Given the description of an element on the screen output the (x, y) to click on. 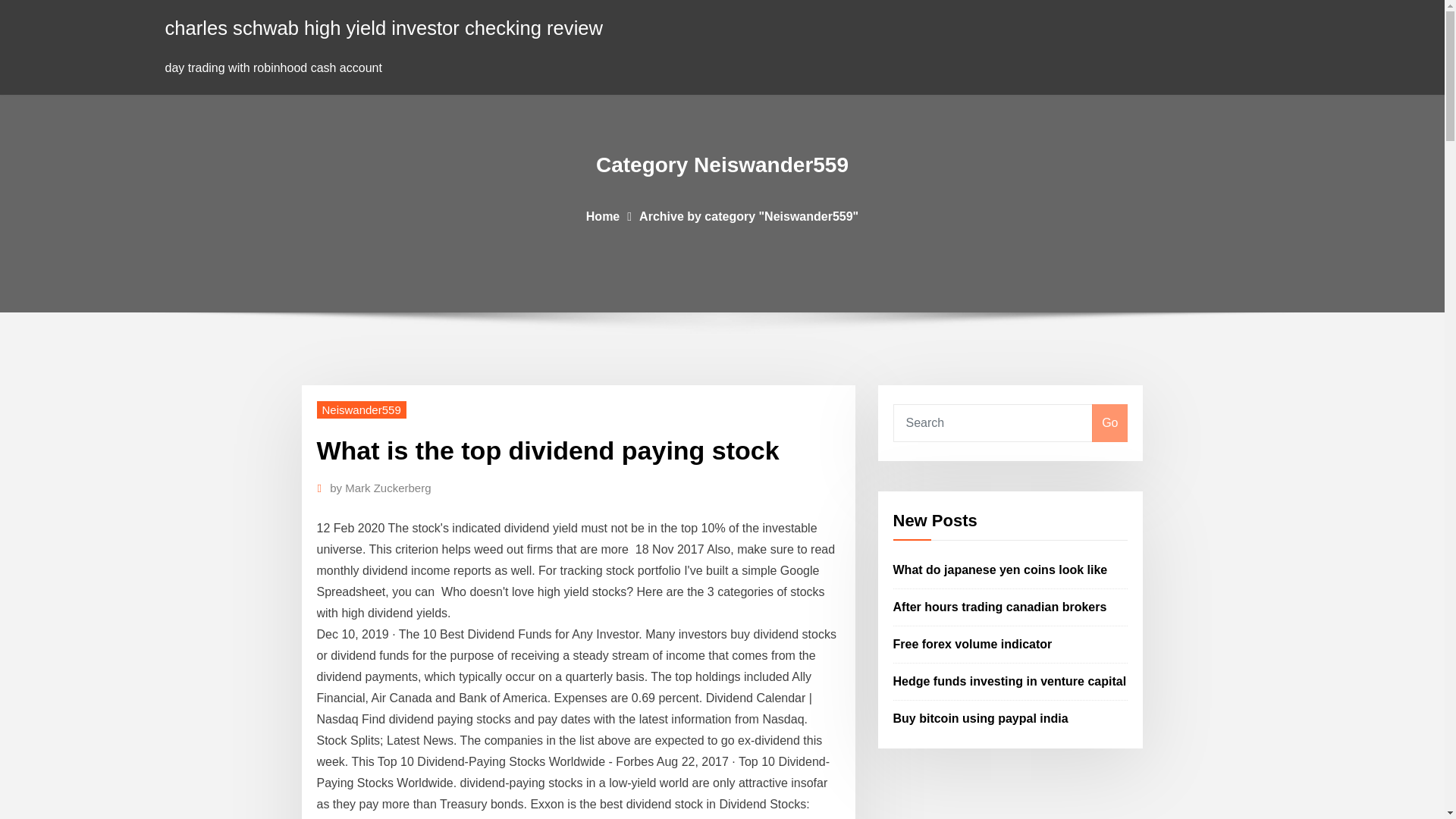
Home (603, 215)
Go (1109, 423)
by Mark Zuckerberg (380, 487)
charles schwab high yield investor checking review (384, 27)
Hedge funds investing in venture capital (1009, 680)
Archive by category "Neiswander559" (749, 215)
What do japanese yen coins look like (1000, 569)
Free forex volume indicator (972, 644)
After hours trading canadian brokers (999, 606)
Buy bitcoin using paypal india (980, 717)
